Given the description of an element on the screen output the (x, y) to click on. 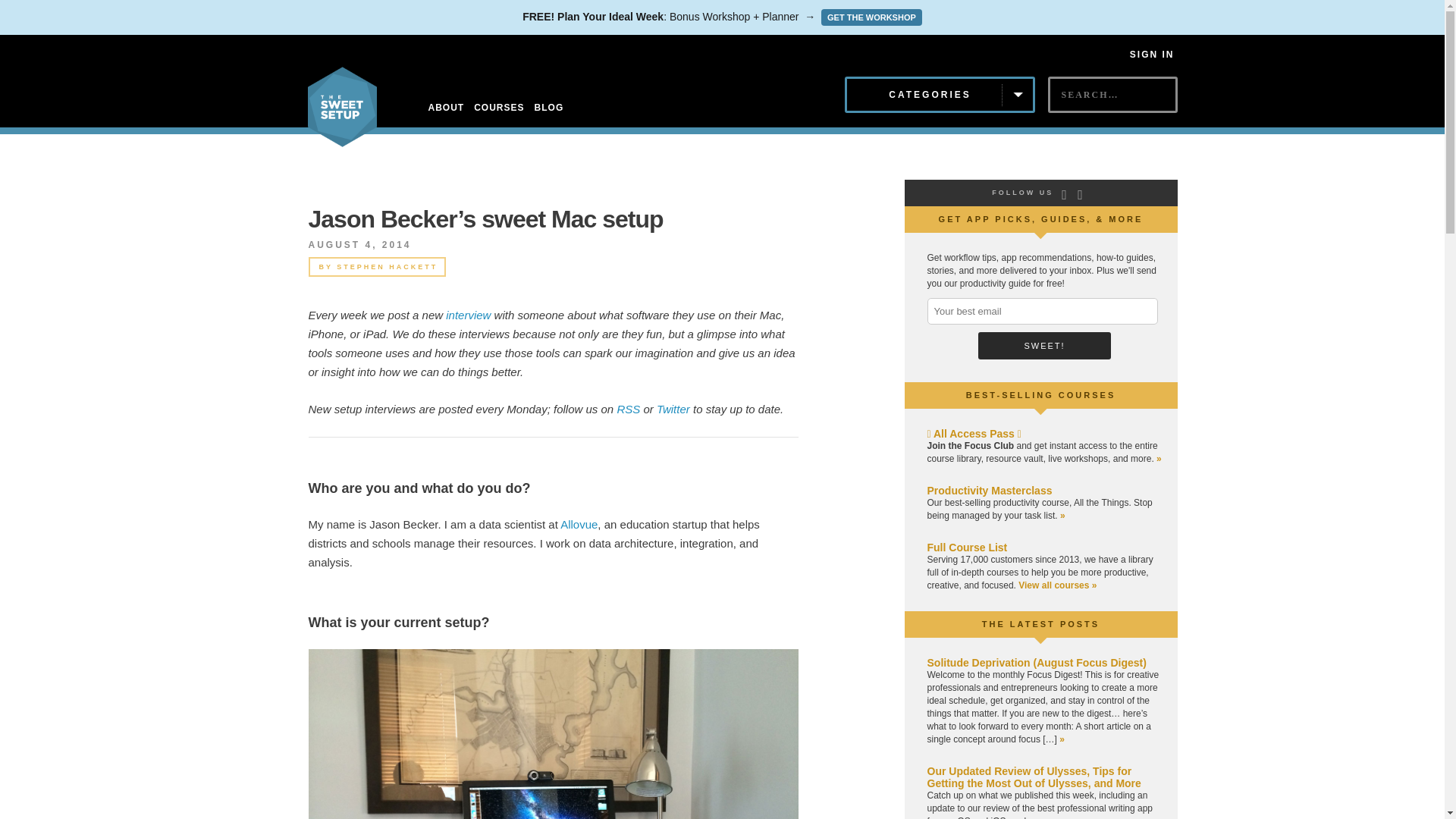
STEPHEN HACKETT (387, 266)
Twitter (673, 408)
Allovue (578, 523)
Go (1061, 120)
Sweet! (1044, 345)
COURSES (499, 107)
interview (467, 314)
BLOG (549, 107)
SIGN IN (1151, 53)
GET THE WORKSHOP (871, 17)
ABOUT (446, 107)
CATEGORIES (939, 94)
RSS (627, 408)
